Given the description of an element on the screen output the (x, y) to click on. 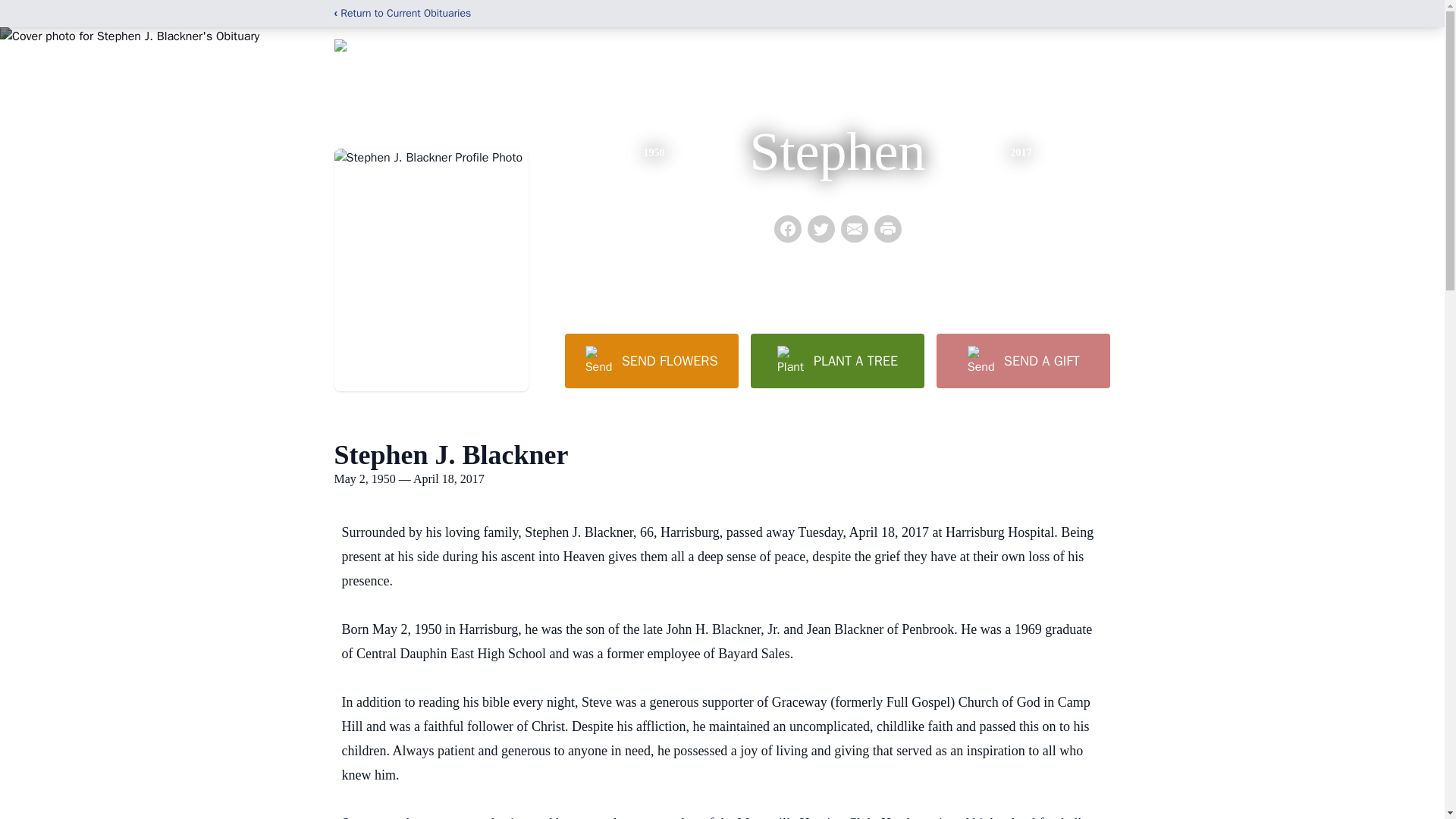
SEND A GIFT (1022, 360)
PLANT A TREE (837, 360)
SEND FLOWERS (651, 360)
